Given the description of an element on the screen output the (x, y) to click on. 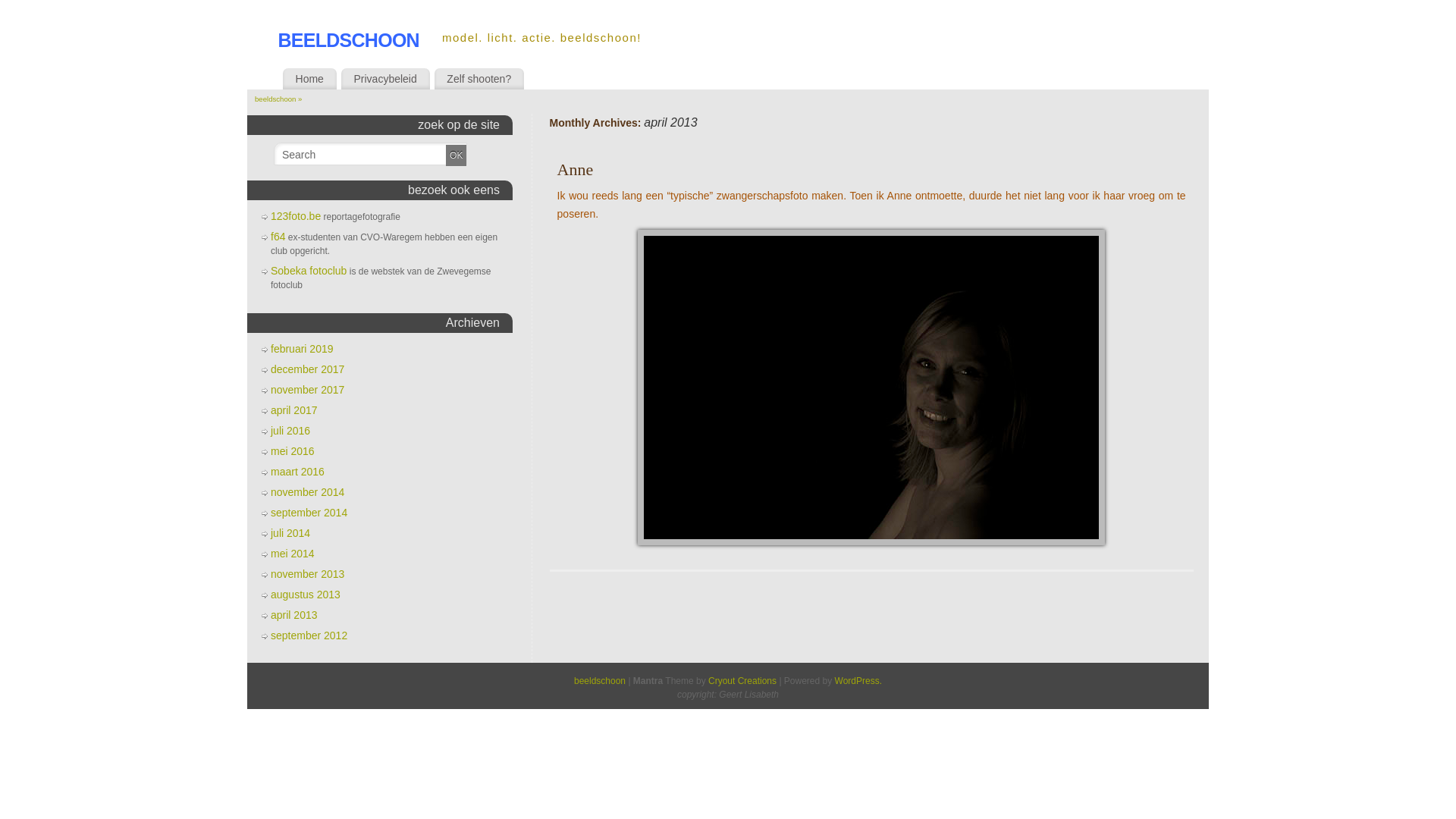
123foto.be Element type: text (295, 216)
mei 2014 Element type: text (292, 553)
mei 2016 Element type: text (292, 451)
Privacybeleid Element type: text (385, 78)
november 2017 Element type: text (307, 389)
OK Element type: text (455, 155)
september 2012 Element type: text (308, 635)
Sobeka fotoclub Element type: text (308, 270)
november 2014 Element type: text (307, 492)
Zelf shooten? Element type: text (479, 78)
beeldschoon Element type: text (348, 37)
Home Element type: text (309, 78)
december 2017 Element type: text (307, 369)
augustus 2013 Element type: text (305, 594)
Anne Element type: text (575, 169)
november 2013 Element type: text (307, 573)
februari 2019 Element type: text (301, 348)
WordPress. Element type: text (857, 680)
april 2013 Element type: text (293, 614)
juli 2016 Element type: text (290, 430)
Cryout Creations Element type: text (742, 680)
april 2017 Element type: text (293, 410)
juli 2014 Element type: text (290, 533)
maart 2016 Element type: text (297, 471)
september 2014 Element type: text (308, 512)
f64 Element type: text (277, 236)
beeldschoon Element type: text (599, 680)
